Given the description of an element on the screen output the (x, y) to click on. 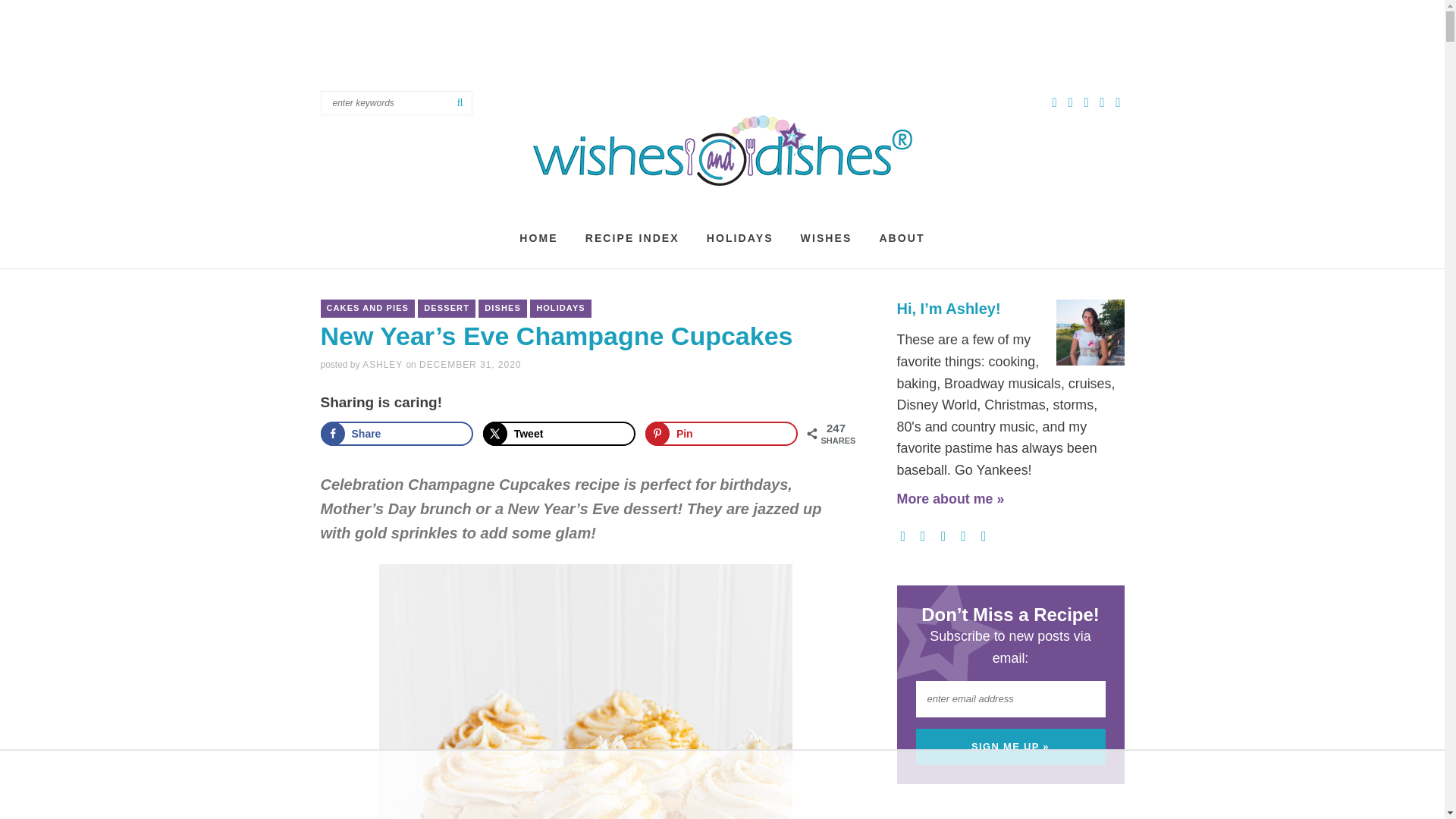
Save to Pinterest (721, 433)
Share on X (559, 433)
Share on Facebook (396, 433)
